Given the description of an element on the screen output the (x, y) to click on. 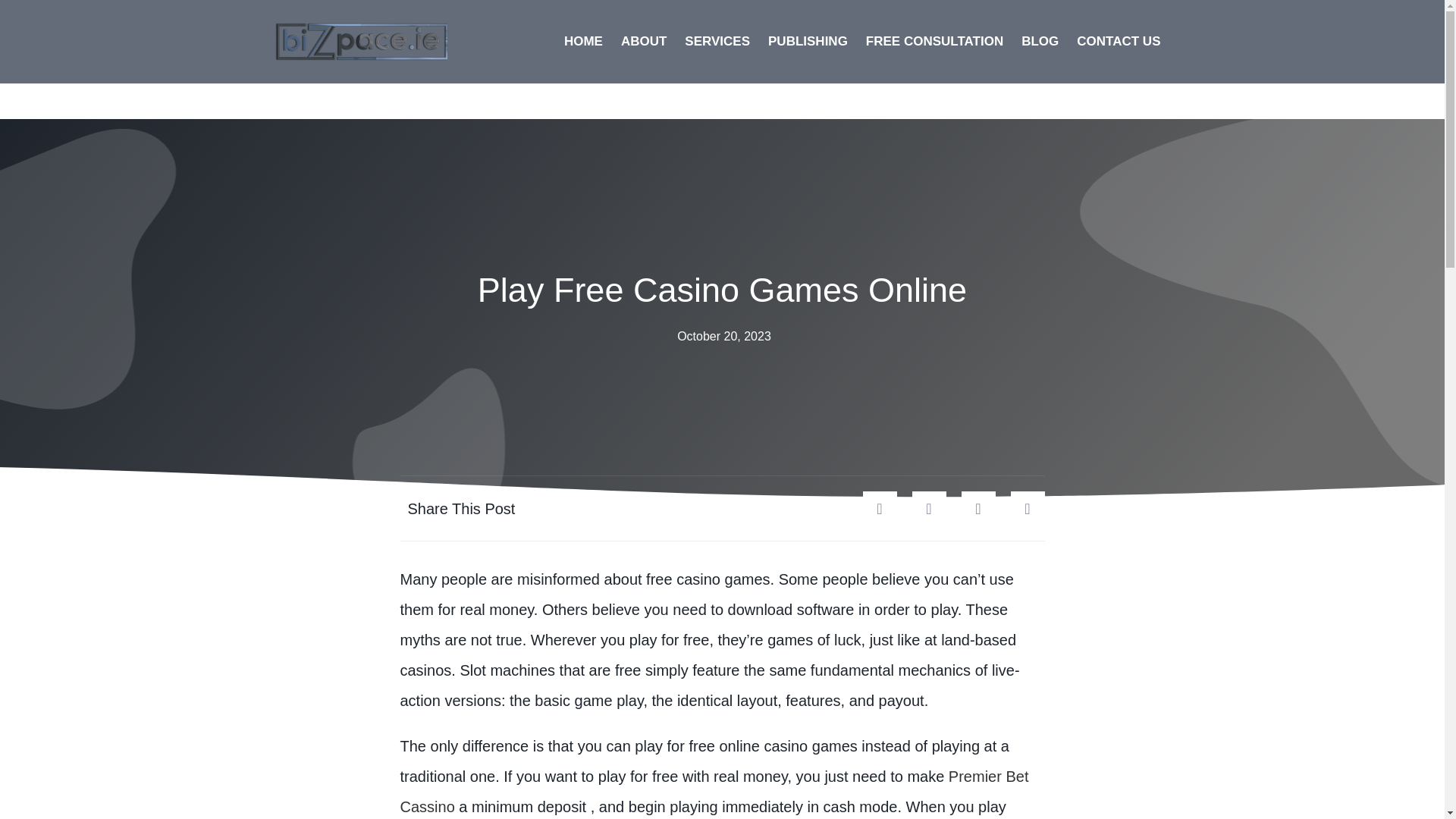
HOME (582, 41)
BLOG (1039, 41)
October 20, 2023 (721, 336)
PUBLISHING (807, 41)
ABOUT (643, 41)
FREE CONSULTATION (934, 41)
CONTACT US (1118, 41)
Premier Bet Cassino (714, 791)
SERVICES (716, 41)
